Given the description of an element on the screen output the (x, y) to click on. 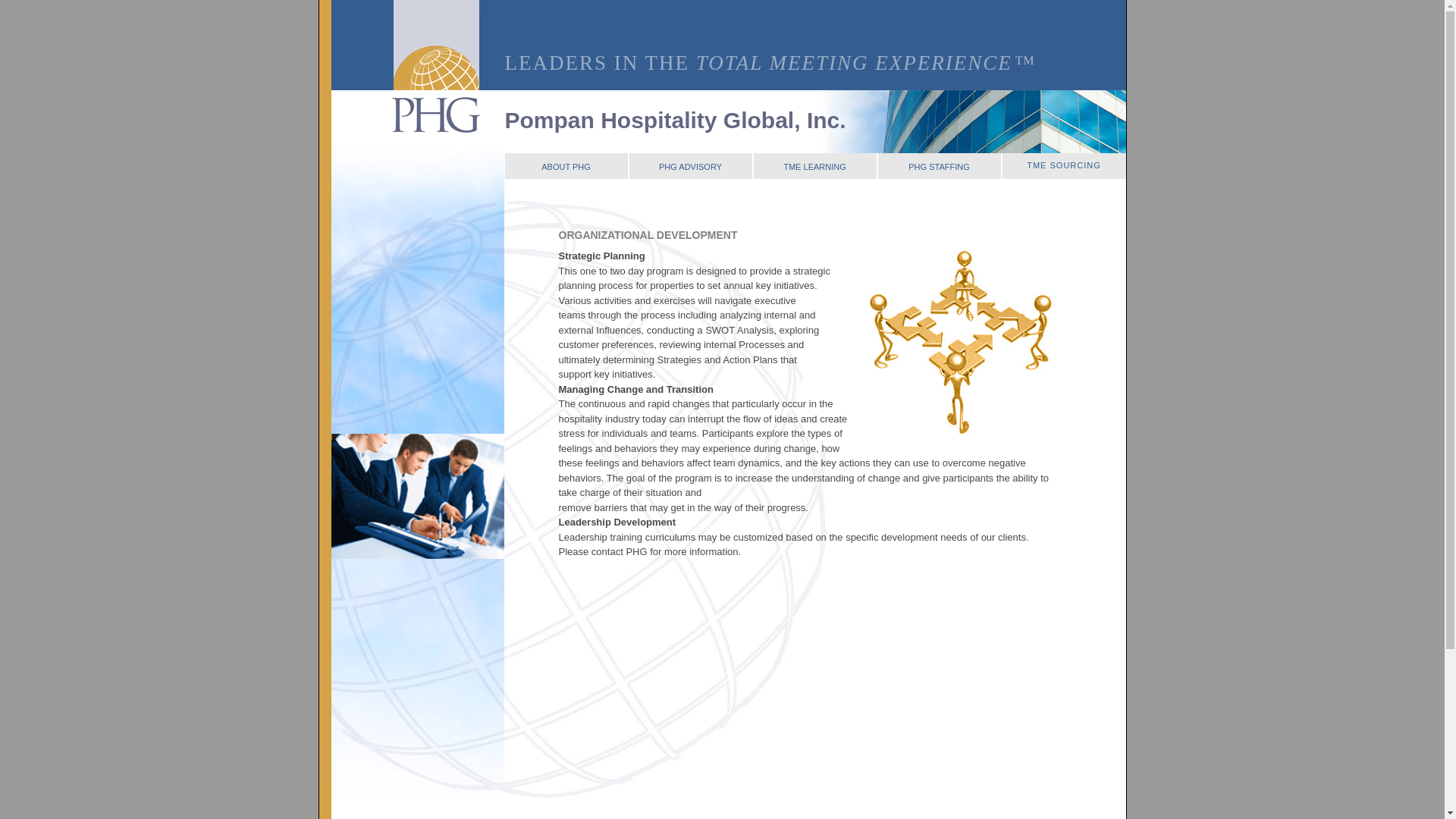
ABOUT PHG (566, 166)
PHG ADVISORY (690, 166)
TME SOURCING (1064, 166)
PHG STAFFING (939, 166)
TME LEARNING (815, 166)
